Given the description of an element on the screen output the (x, y) to click on. 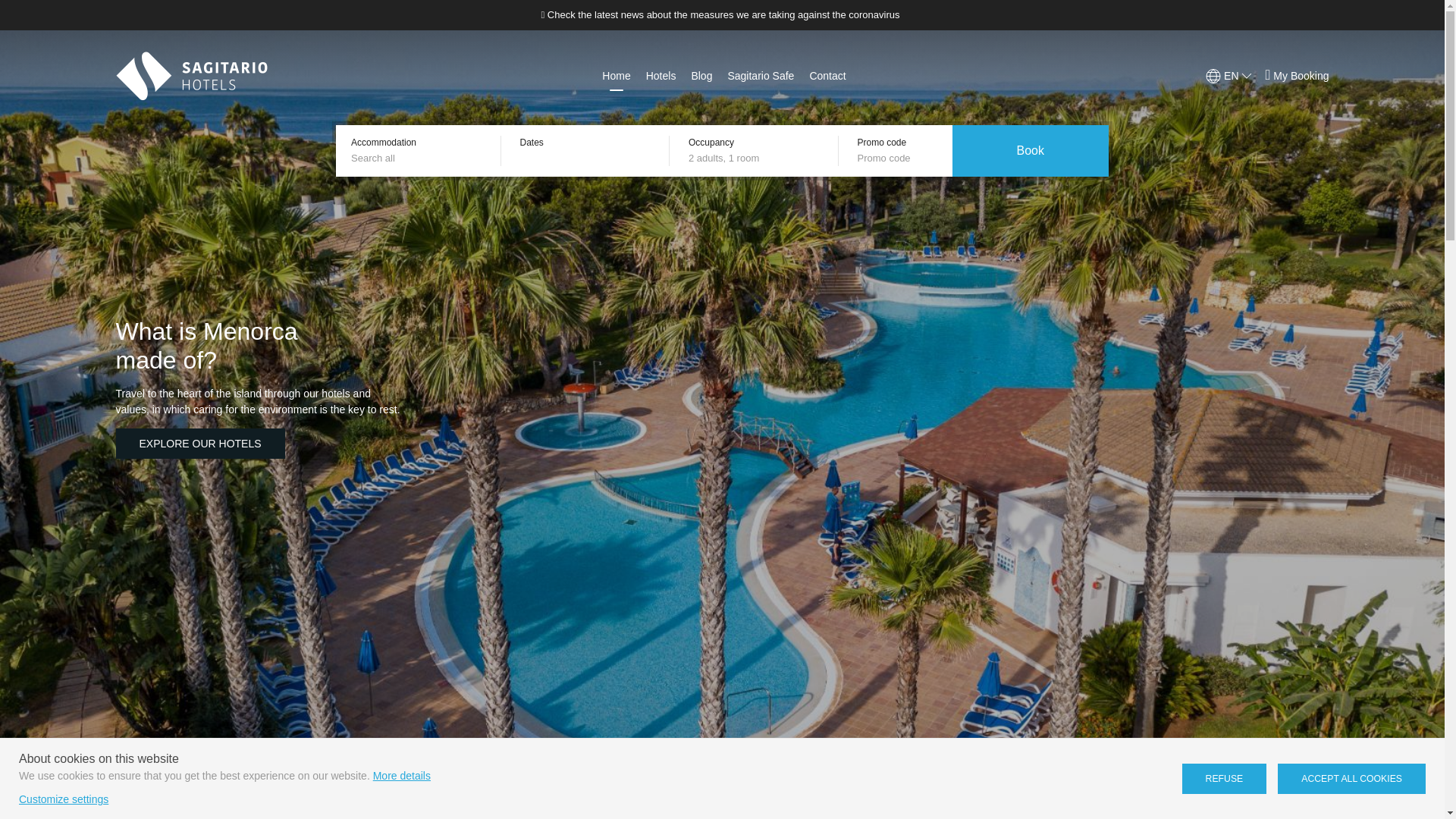
Contact (827, 75)
Hotels (661, 75)
Sagitario Safe (760, 75)
Search all (421, 158)
2 adults, 1 room (759, 158)
2 adults, 1 room (759, 158)
My Booking (1296, 75)
Search all (421, 158)
 EN (1229, 75)
Blog (700, 75)
Home (615, 75)
